Given the description of an element on the screen output the (x, y) to click on. 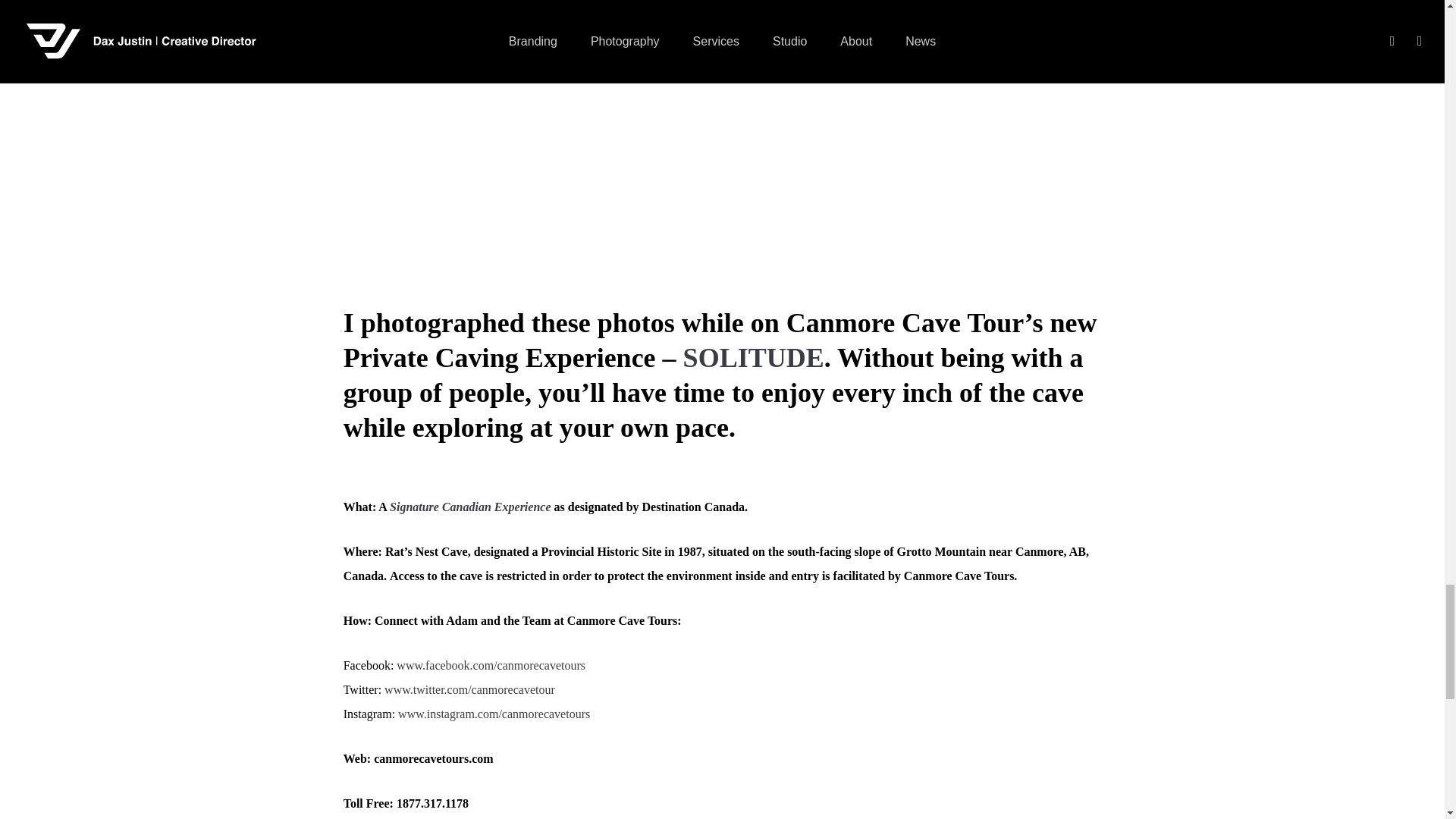
canmorecavetours.com (433, 758)
SOLITUDE (753, 358)
Signature Canadian Experience (470, 506)
